Given the description of an element on the screen output the (x, y) to click on. 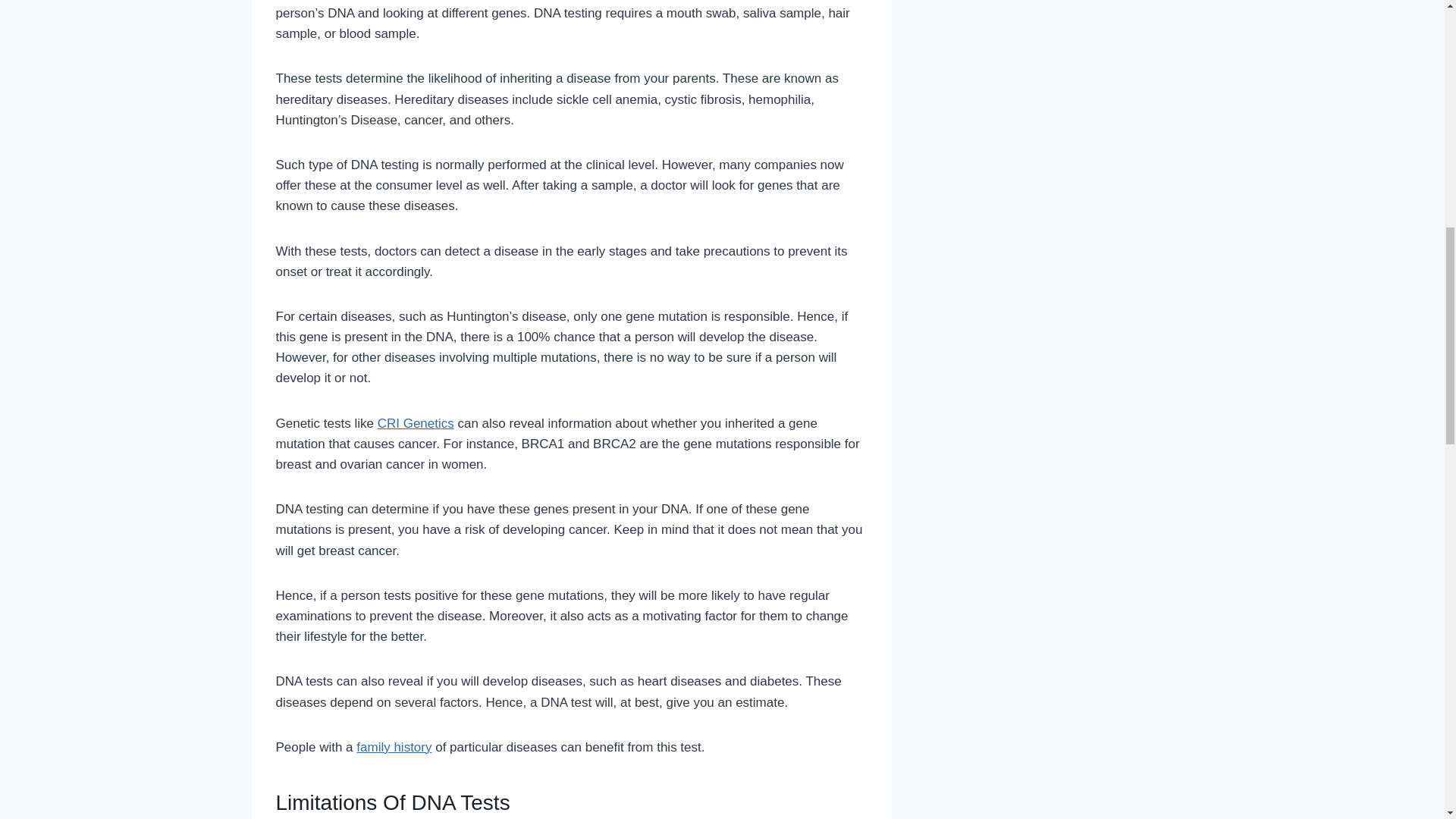
family history (393, 747)
CRI Genetics (415, 423)
